Given the description of an element on the screen output the (x, y) to click on. 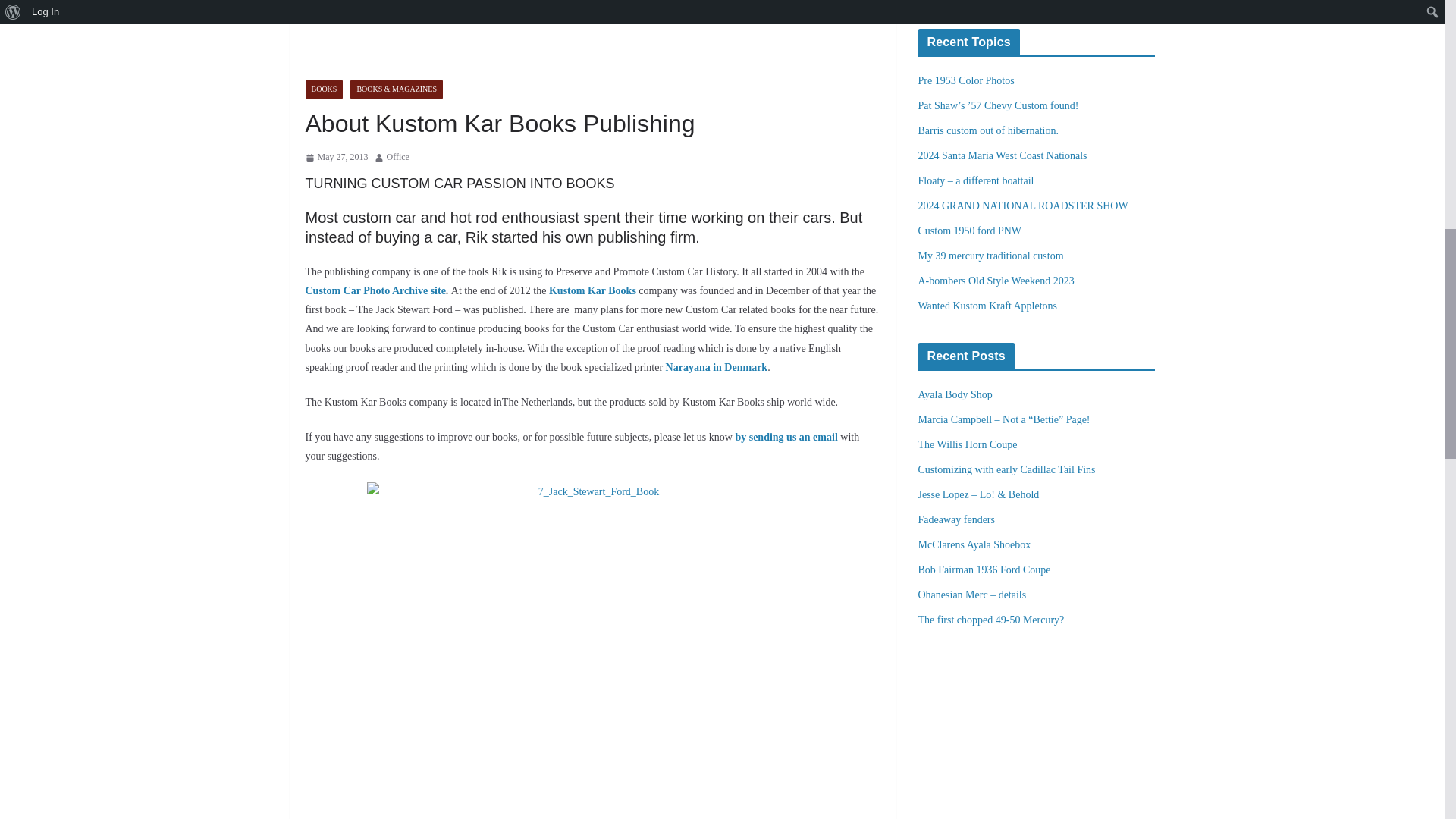
Office (398, 157)
About Kustom Kar Books Publishing (593, 290)
Search (943, 2)
Custom Car Photo Archive (374, 290)
Contact (786, 437)
12:28 (336, 157)
Narayana (716, 367)
